Given the description of an element on the screen output the (x, y) to click on. 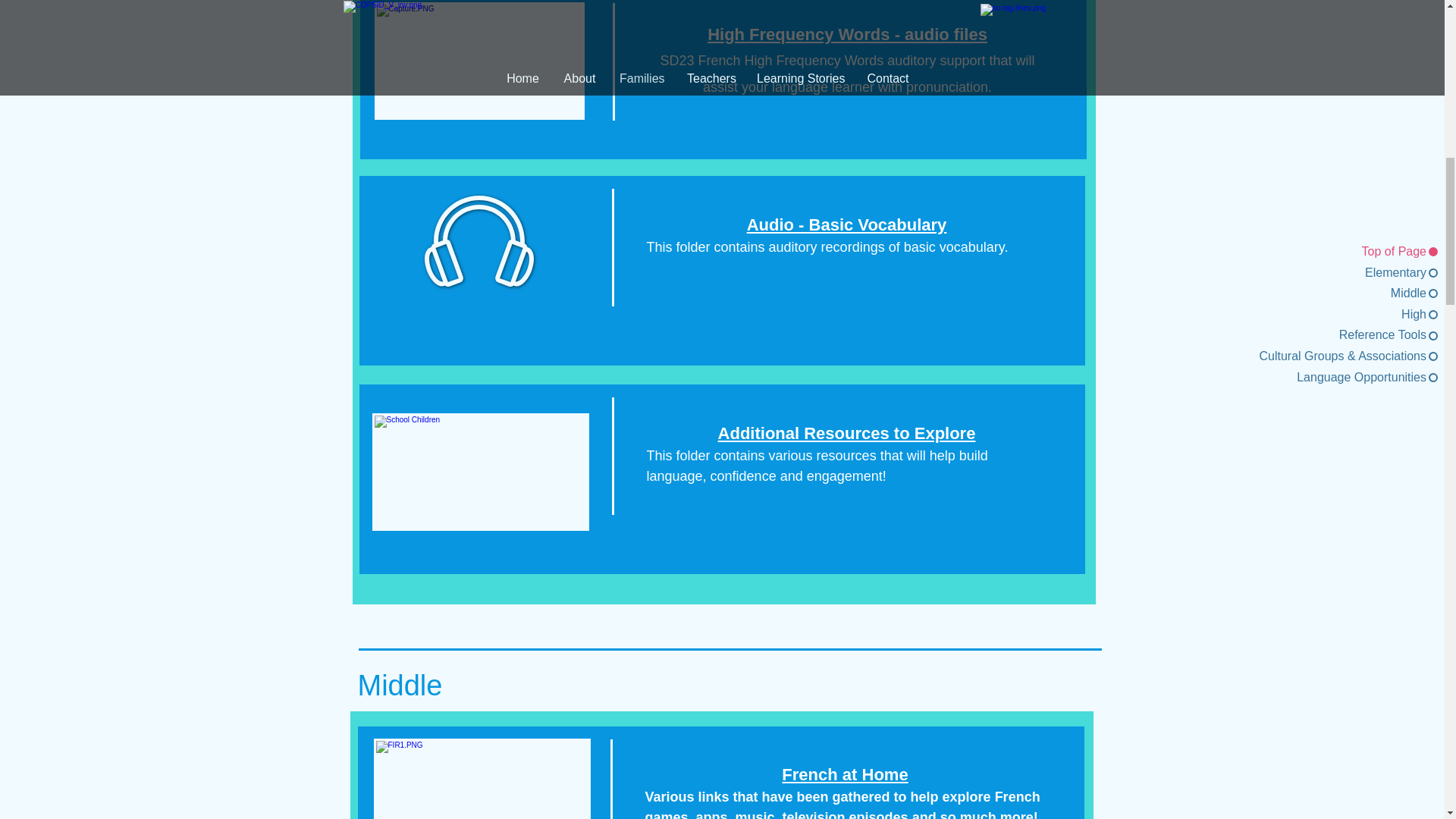
High Frequency Words - audio files (847, 34)
Audio - Basic Vocabulary (846, 224)
